Given the description of an element on the screen output the (x, y) to click on. 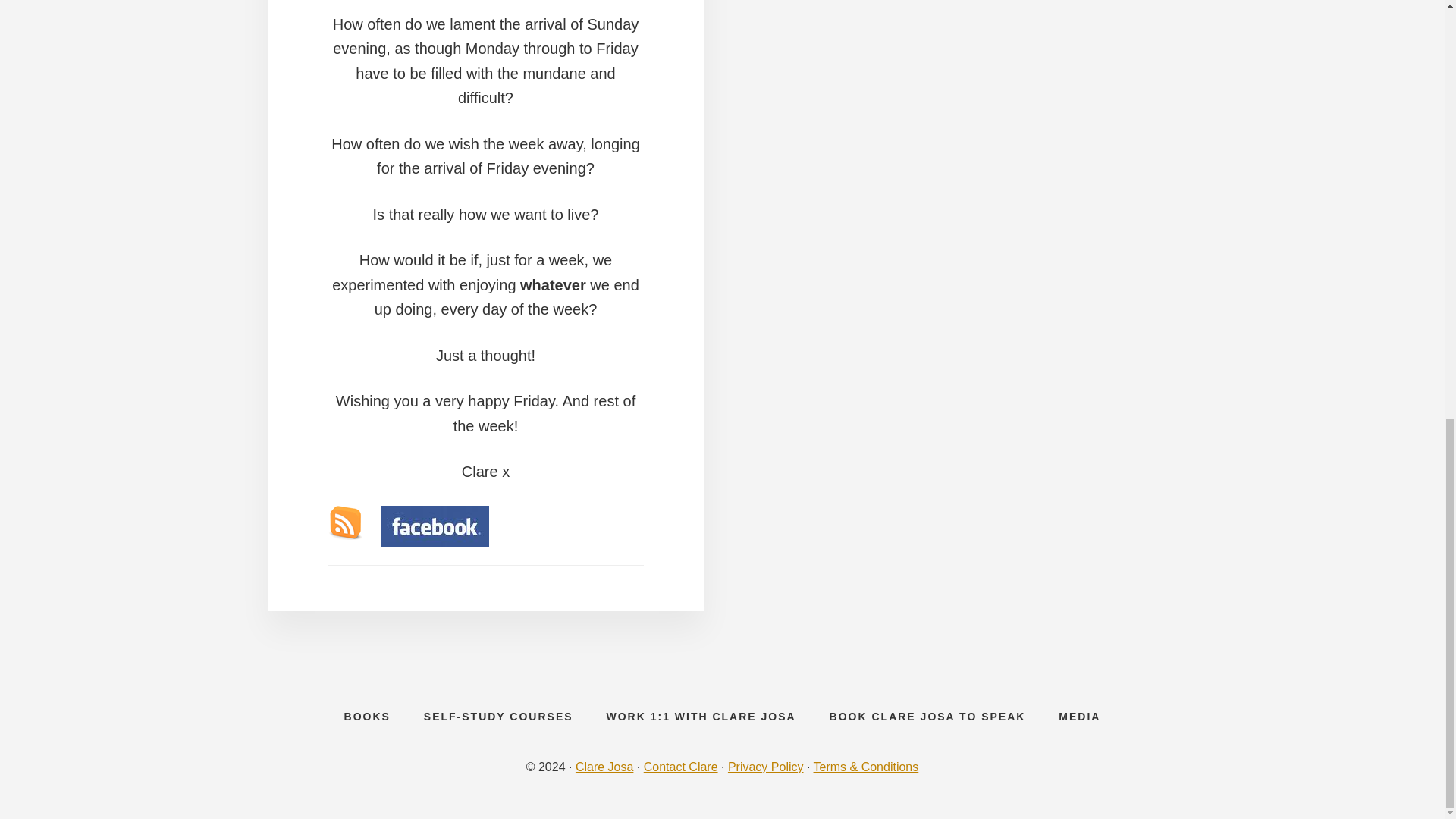
Privacy Policy (765, 766)
Contact Clare Josa (680, 766)
Contact Clare (680, 766)
WORK 1:1 WITH CLARE JOSA (700, 716)
MEDIA (1079, 716)
Daily Sunshine RSS (344, 522)
Privacy Policy (765, 766)
BOOK CLARE JOSA TO SPEAK (927, 716)
Daily Sunshine Facebook Group (434, 526)
Clare Josa (604, 766)
SELF-STUDY COURSES (498, 716)
BOOKS (367, 716)
